Given the description of an element on the screen output the (x, y) to click on. 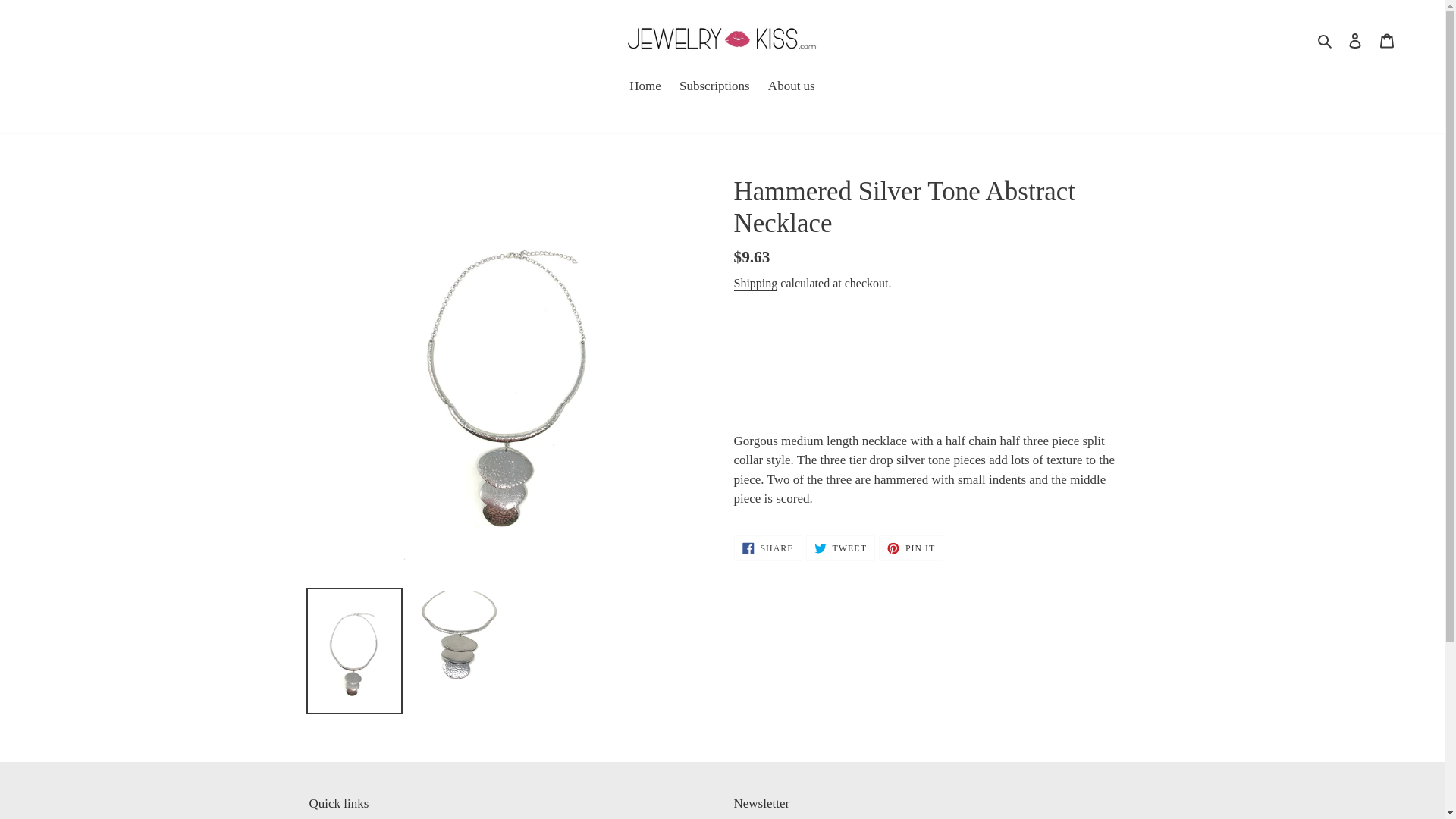
Shipping (755, 283)
Home (644, 86)
Search (1326, 39)
About us (791, 86)
Log in (911, 548)
Cart (1355, 39)
Subscriptions (840, 548)
